Given the description of an element on the screen output the (x, y) to click on. 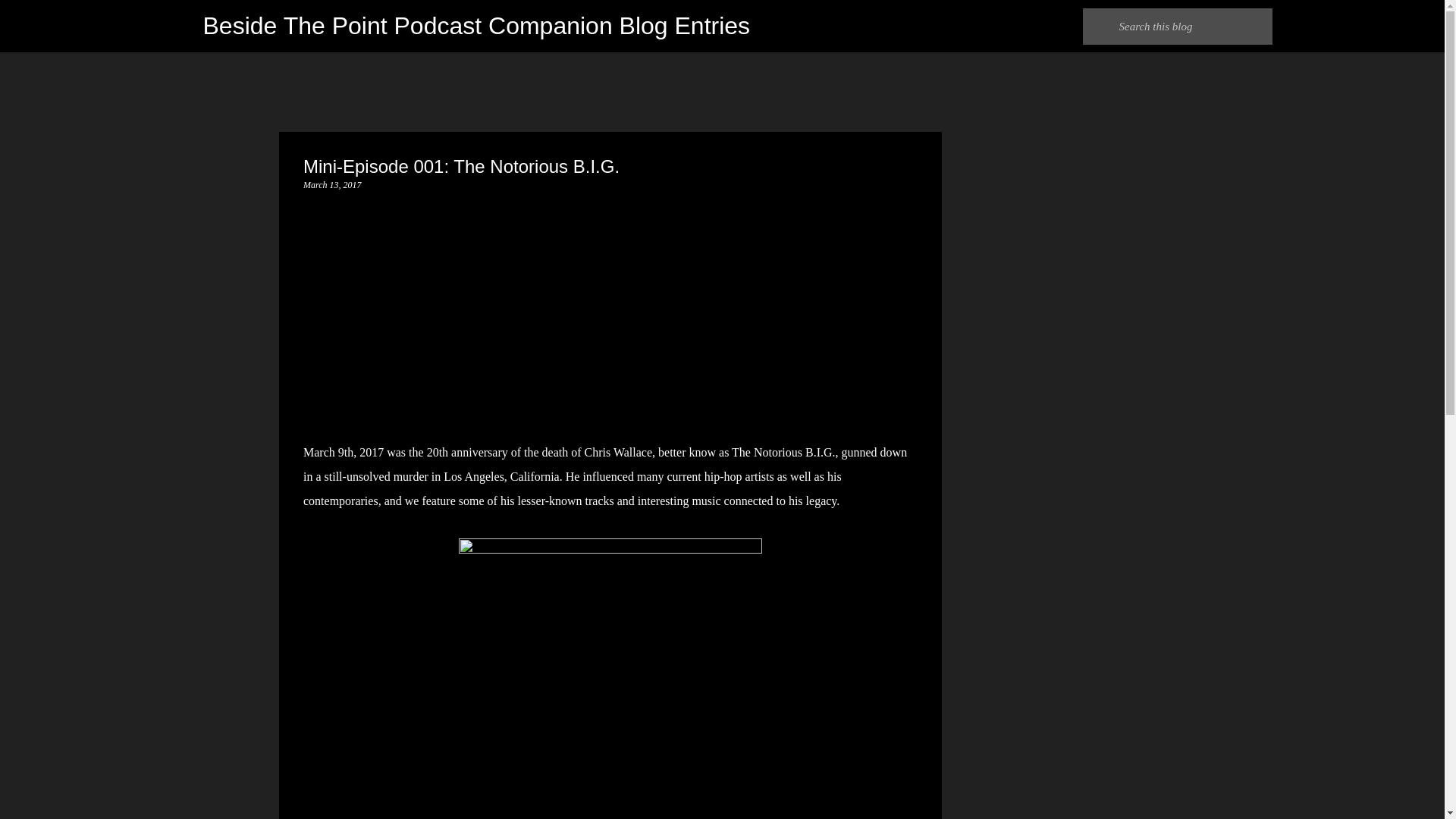
March 13, 2017 (331, 184)
permanent link (331, 184)
Beside The Point Podcast Companion Blog Entries (477, 25)
